Given the description of an element on the screen output the (x, y) to click on. 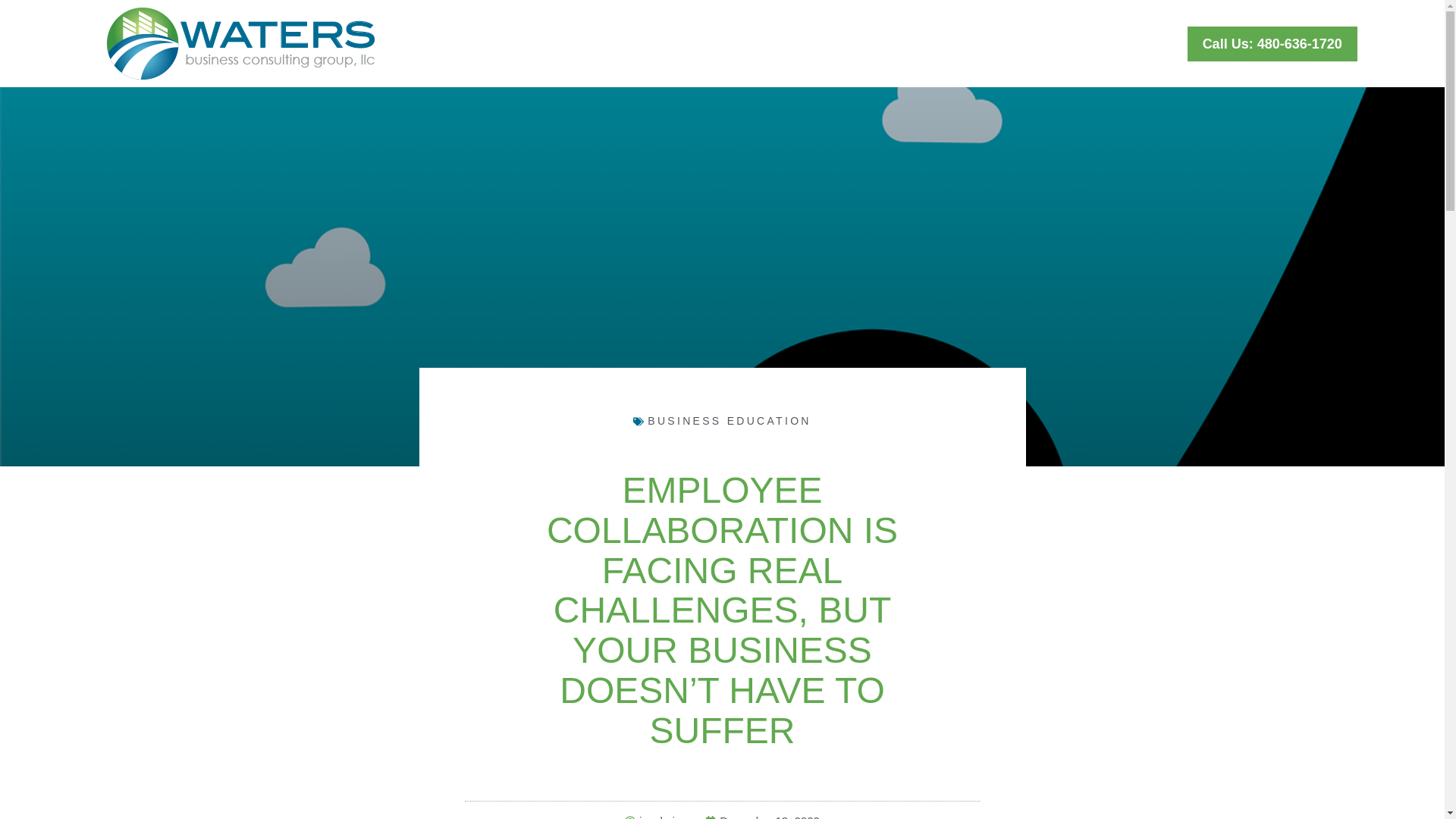
Case Studies (886, 42)
About (979, 42)
Services (785, 42)
Schedule (1060, 42)
Call Us: 480-636-1720 (1272, 42)
Contact (1147, 42)
Home (708, 42)
